Given the description of an element on the screen output the (x, y) to click on. 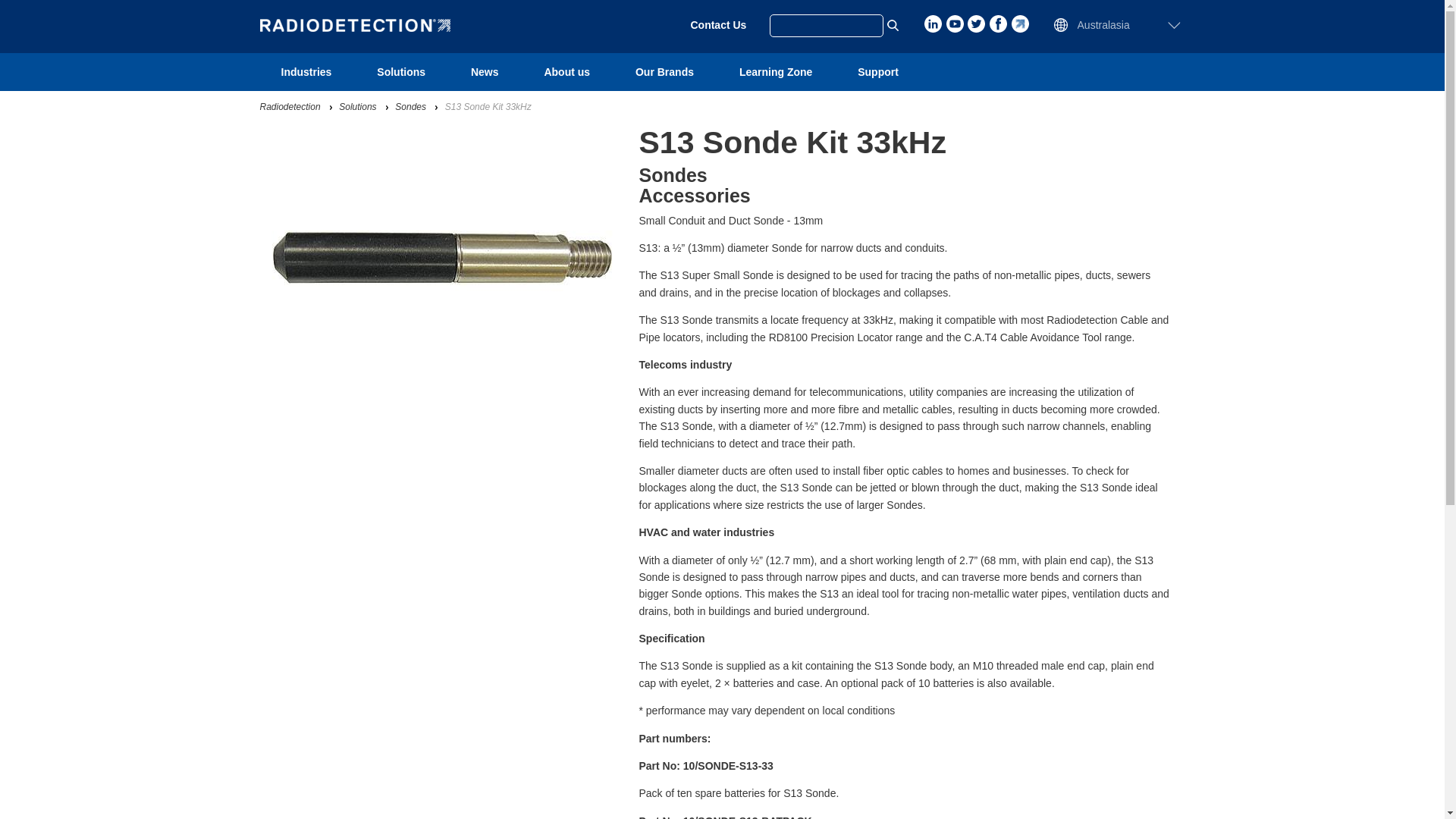
Contact Us (717, 24)
Apply (5, 5)
Change language (56, 15)
